Given the description of an element on the screen output the (x, y) to click on. 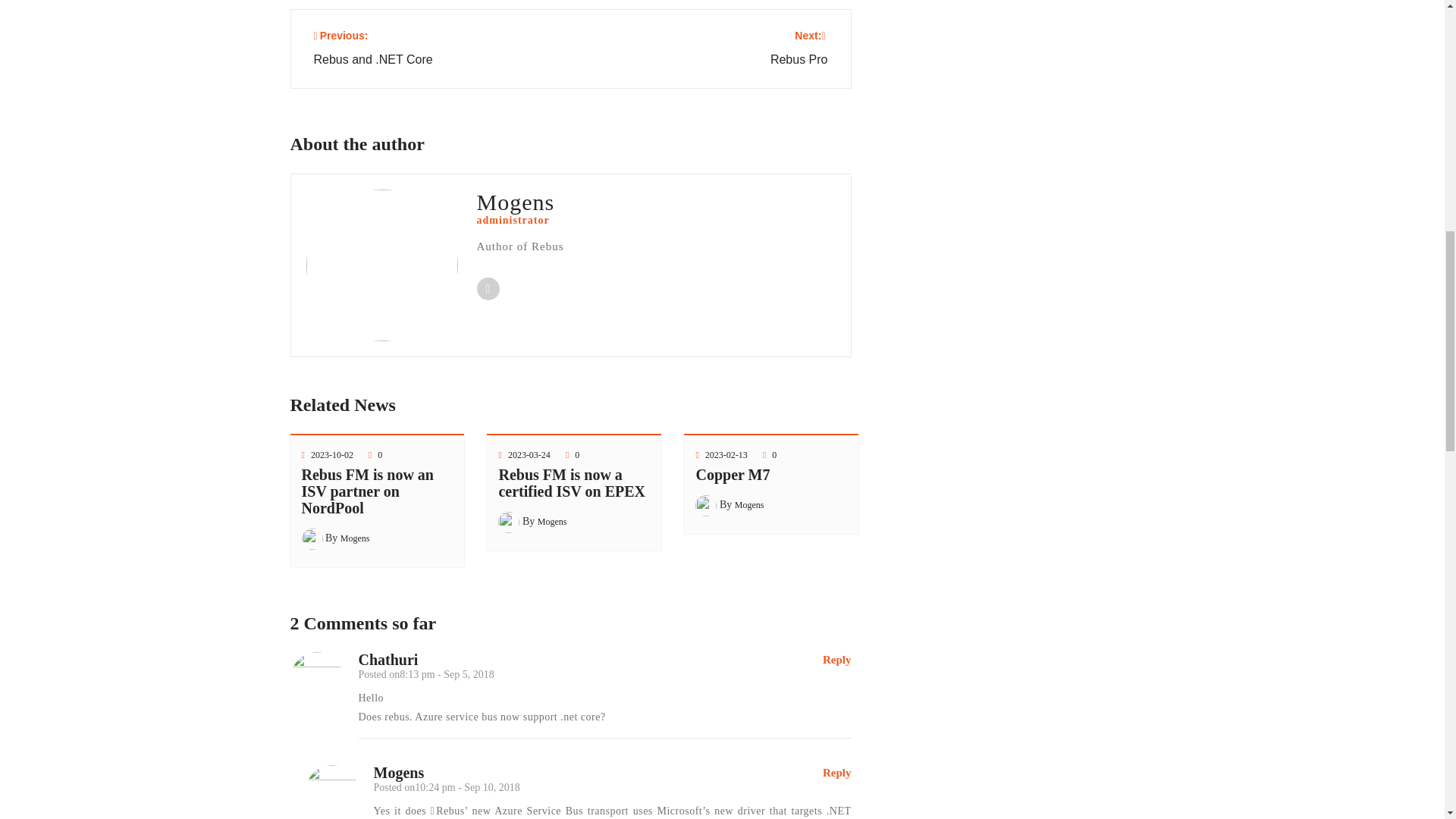
Mogens (354, 538)
Rebus FM is now a certified ISV on EPEX (571, 482)
Copper M7 (373, 48)
Rebus FM is now an ISV partner on NordPool (732, 474)
Mogens (367, 491)
2023-10-02 (799, 48)
Mogens (552, 521)
2023-03-24 (332, 454)
